Given the description of an element on the screen output the (x, y) to click on. 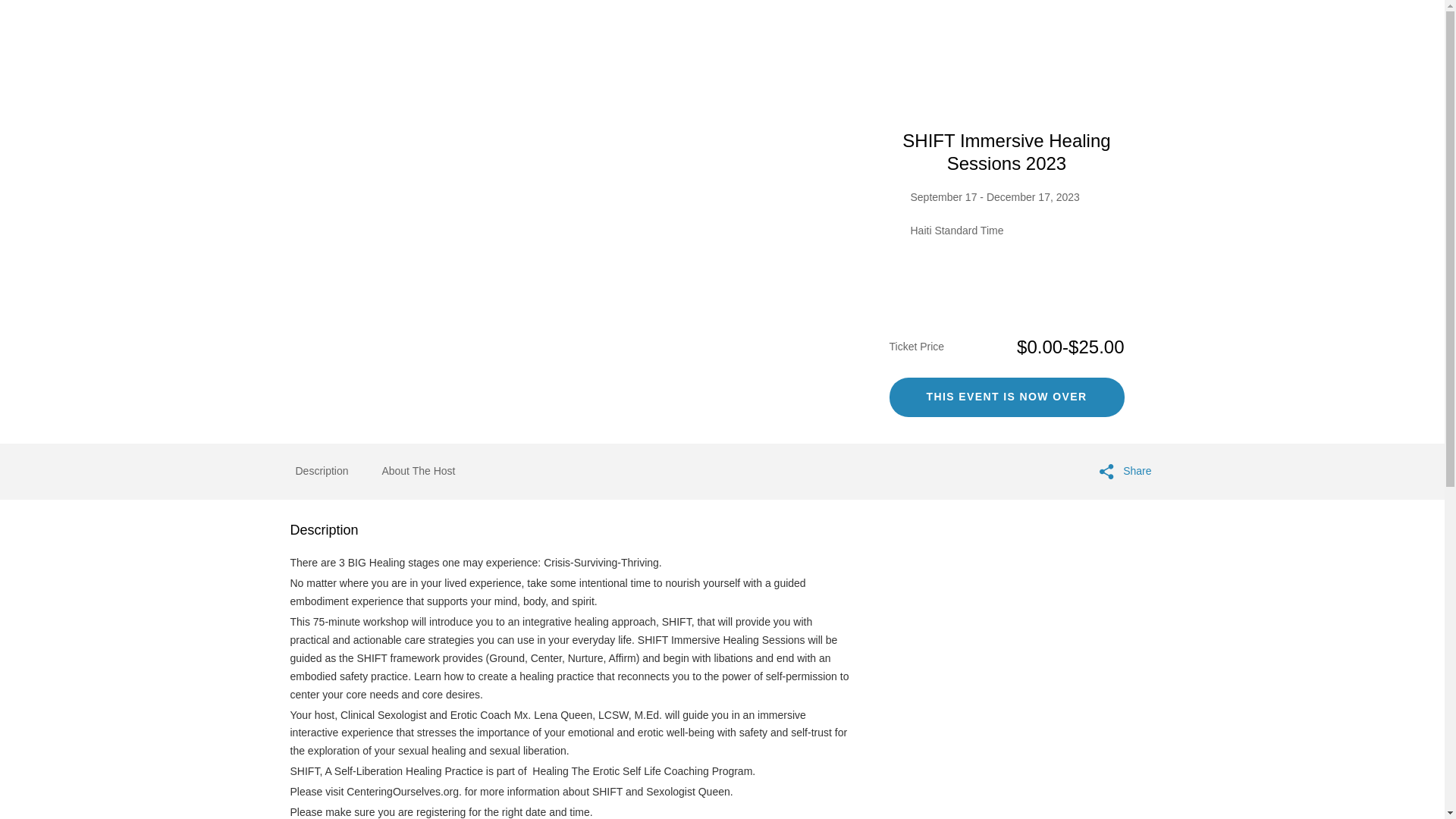
About The Host (417, 471)
Description (322, 471)
Description (322, 470)
Share (1125, 471)
About The Host (417, 470)
